Given the description of an element on the screen output the (x, y) to click on. 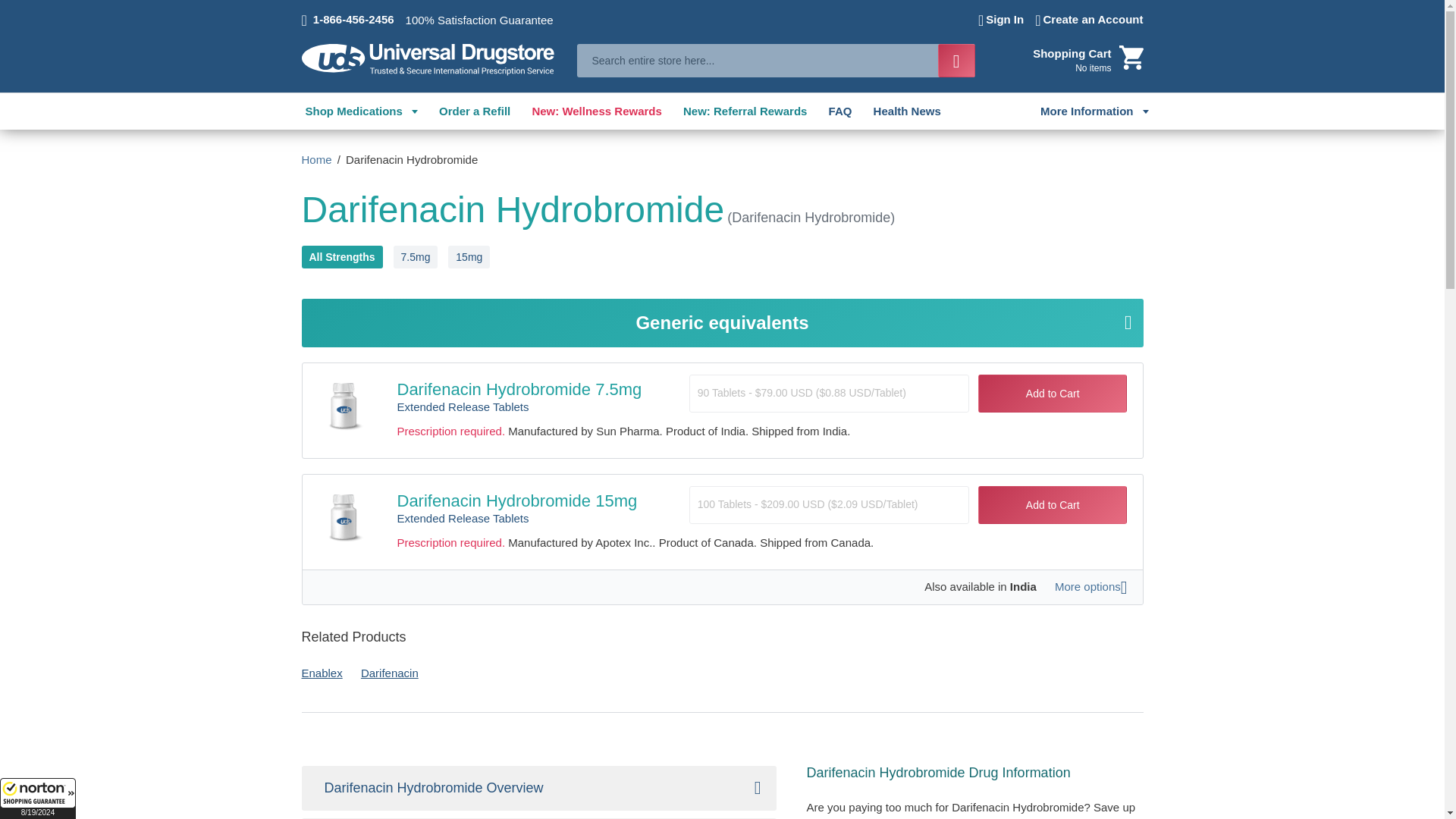
Add to Cart (1052, 393)
Shop Medications (360, 111)
Create an Account (1088, 19)
Add to Cart (1052, 505)
More Information (1094, 111)
Health News (906, 111)
More options (1090, 587)
Darifenacin Hydrobromide 7.5mg (519, 389)
New: Referral Rewards (744, 111)
Order a Refill (475, 111)
